Given the description of an element on the screen output the (x, y) to click on. 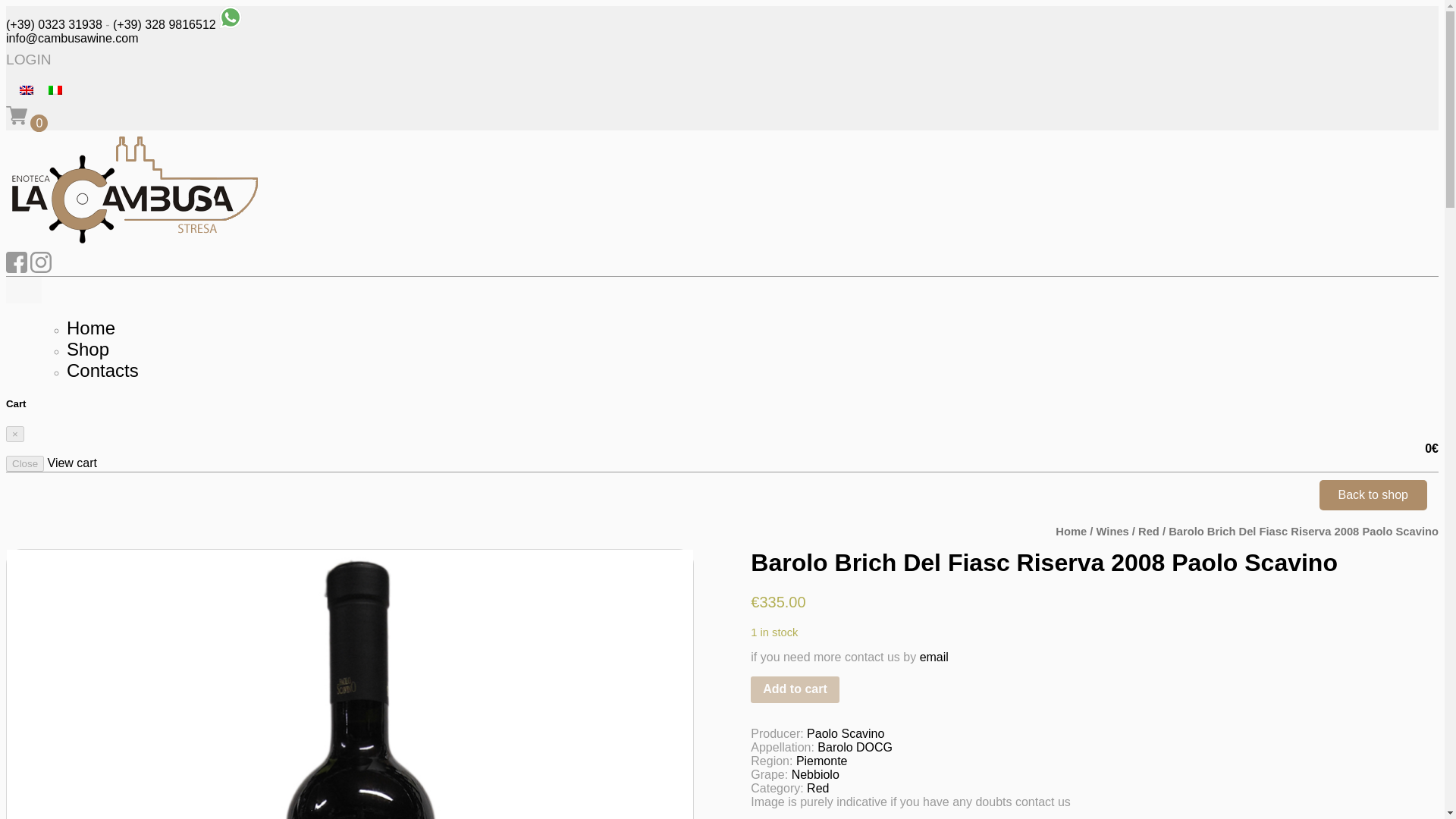
La Cambusa Wine Store - Stresa Piedmont Italy (134, 244)
Piemonte (821, 760)
Telephone La Cambusa Wine Store - Stresa Piedmont Italy (53, 24)
Login (27, 59)
Home (90, 327)
Nebbiolo (816, 774)
Telephone La Cambusa Wine Store - Stresa Piedmont Italy (164, 24)
Red (1148, 531)
Shop (87, 349)
email (934, 656)
Contacts (102, 370)
Contacts (102, 370)
Whatsapp La Cambusa Wine Store - Stresa Piedmont Italy (230, 24)
Home (90, 327)
